Given the description of an element on the screen output the (x, y) to click on. 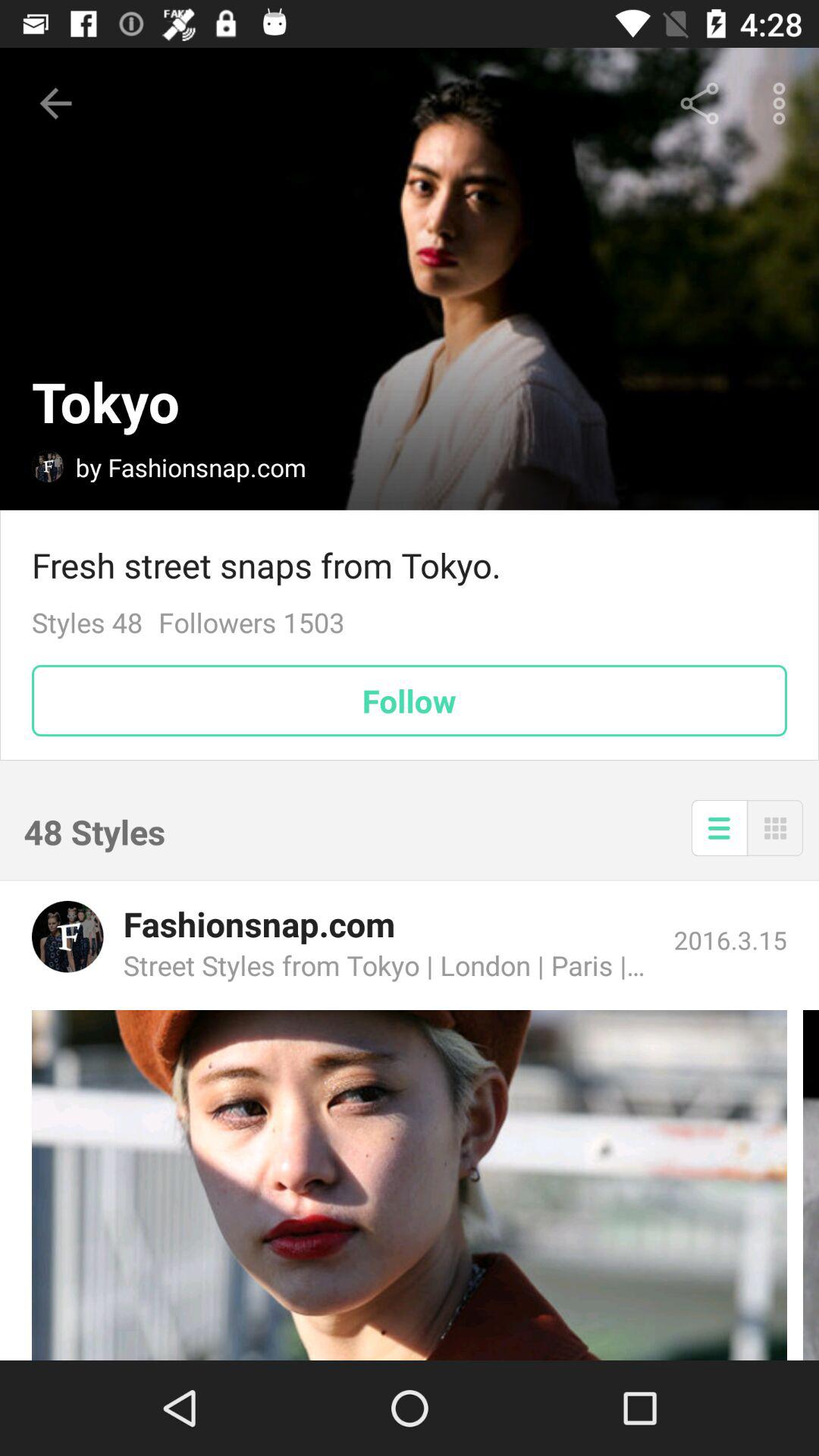
change to list type (718, 827)
